Given the description of an element on the screen output the (x, y) to click on. 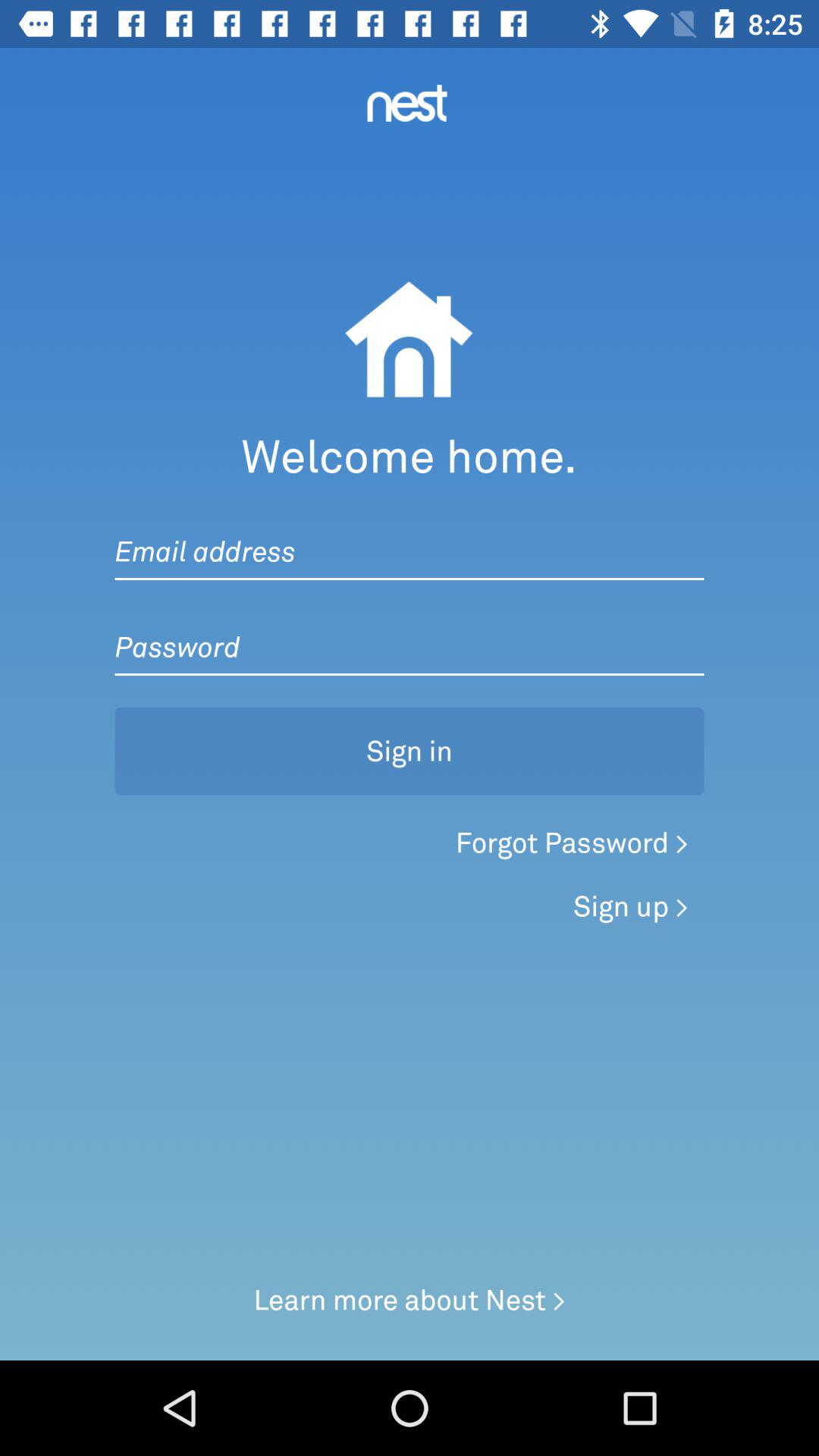
enter email address (409, 536)
